Given the description of an element on the screen output the (x, y) to click on. 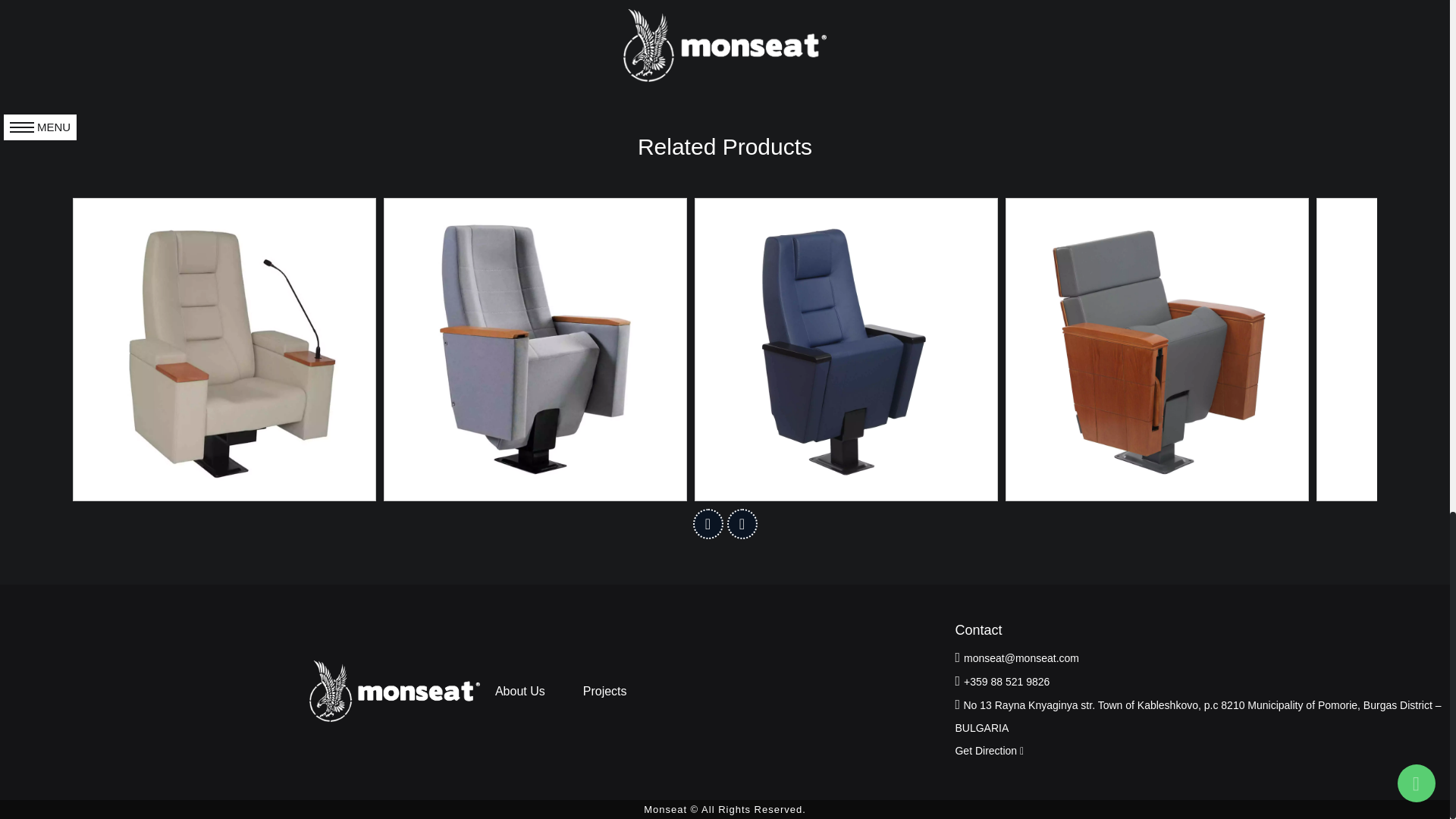
Seat Model: AQUAMARINE 01 (846, 349)
Seat Model: AQUAMARINE (534, 349)
Seat Model: AMETIST (224, 349)
Seat Model: AQUAMARINE 3P (1156, 349)
